Given the description of an element on the screen output the (x, y) to click on. 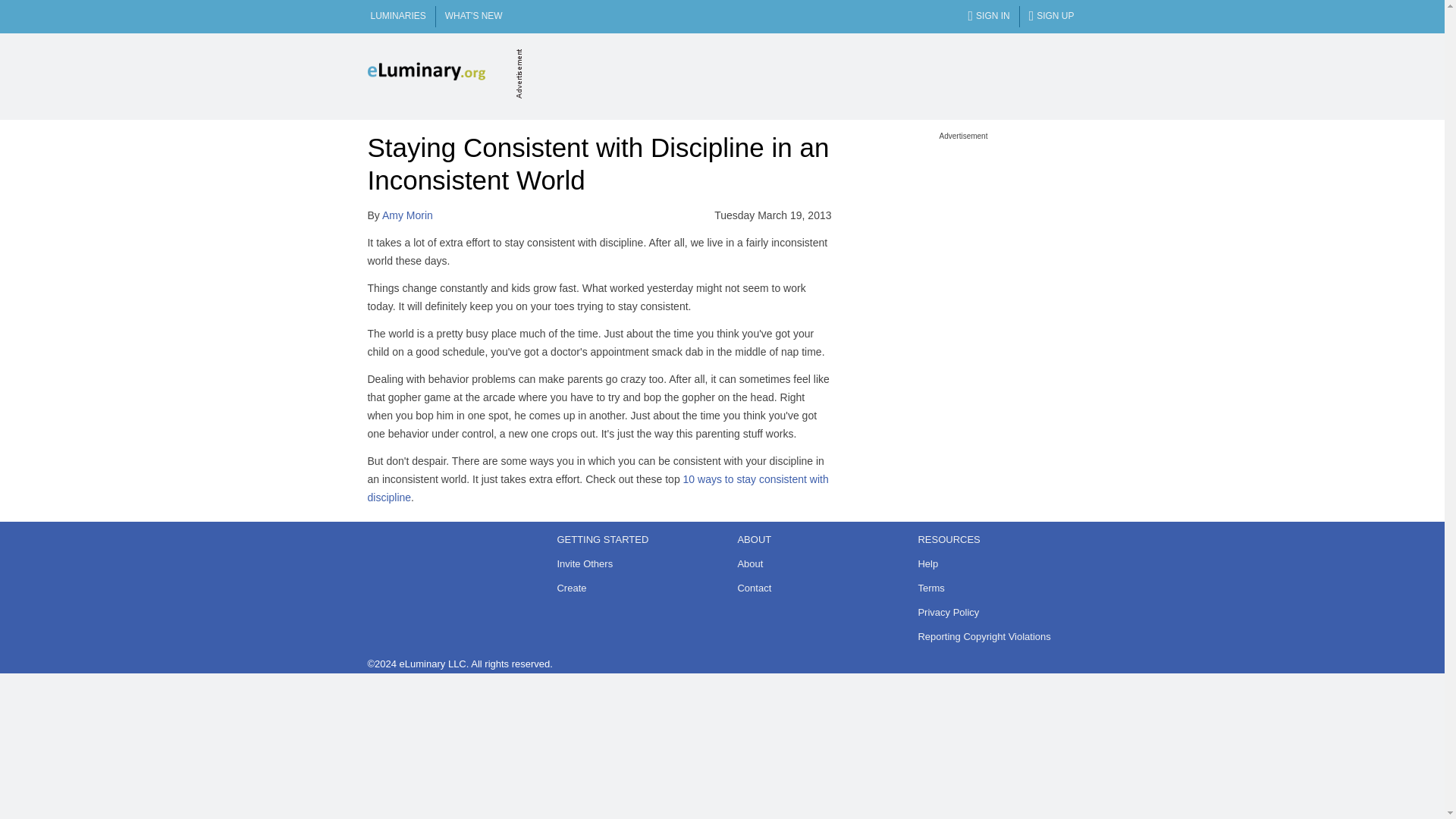
Help (992, 564)
Contact (811, 588)
Advertisement (962, 235)
Advertisement (800, 73)
SIGN IN (988, 16)
Invite Others (631, 564)
Reporting Copyright Violations (992, 637)
10 ways to stay consistent with discipline (597, 488)
Privacy Policy (992, 612)
Luminaries (397, 16)
Terms (992, 588)
What's New (473, 16)
Sign In (988, 16)
LUMINARIES (397, 16)
Sign Up (1051, 16)
